Given the description of an element on the screen output the (x, y) to click on. 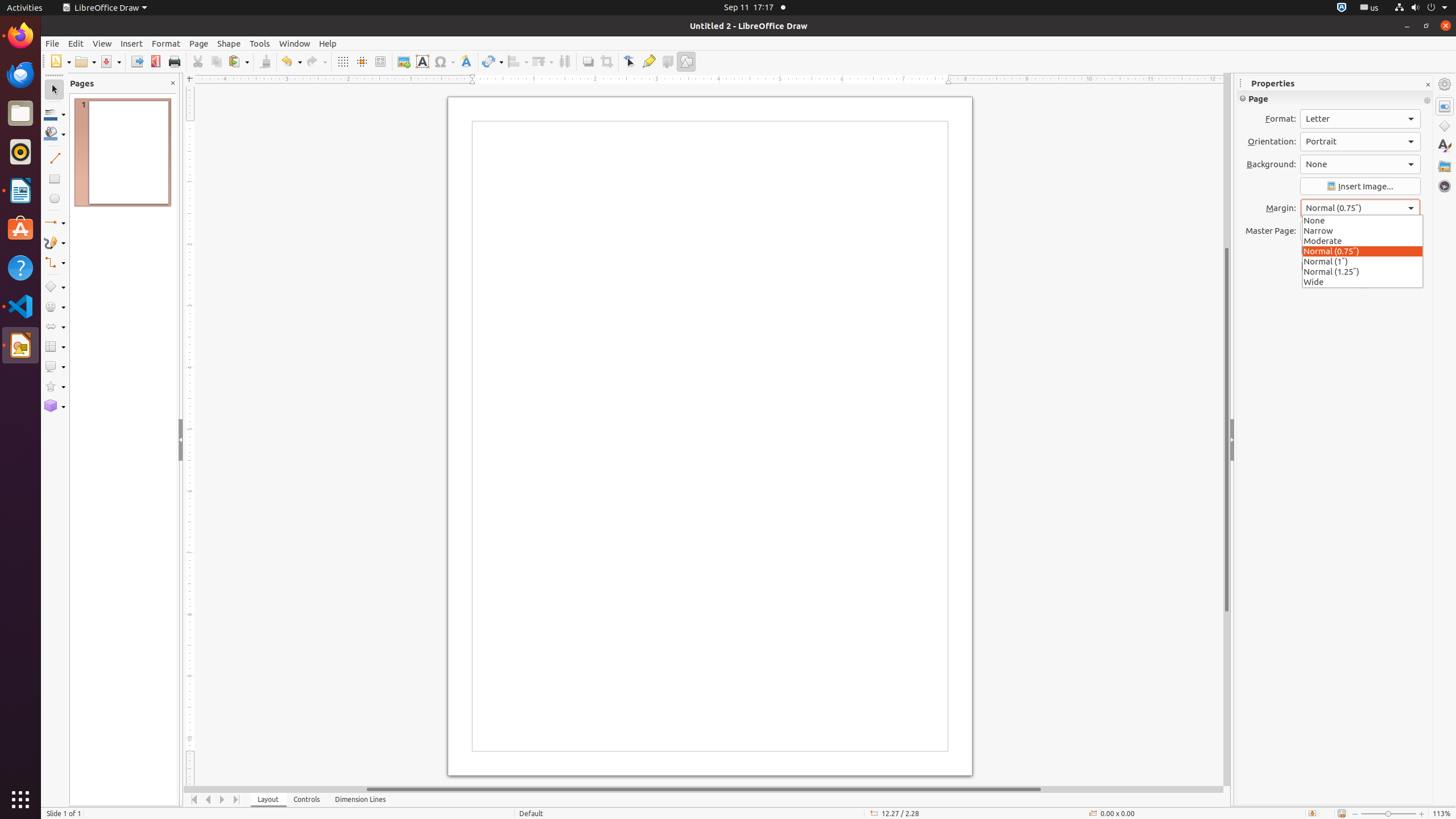
Draw Functions Element type: toggle-button (685, 61)
Narrow Element type: list-item (1362, 230)
Paste Element type: push-button (237, 61)
Layout Element type: page-tab (268, 799)
Horizontal Ruler Element type: ruler (703, 79)
